Given the description of an element on the screen output the (x, y) to click on. 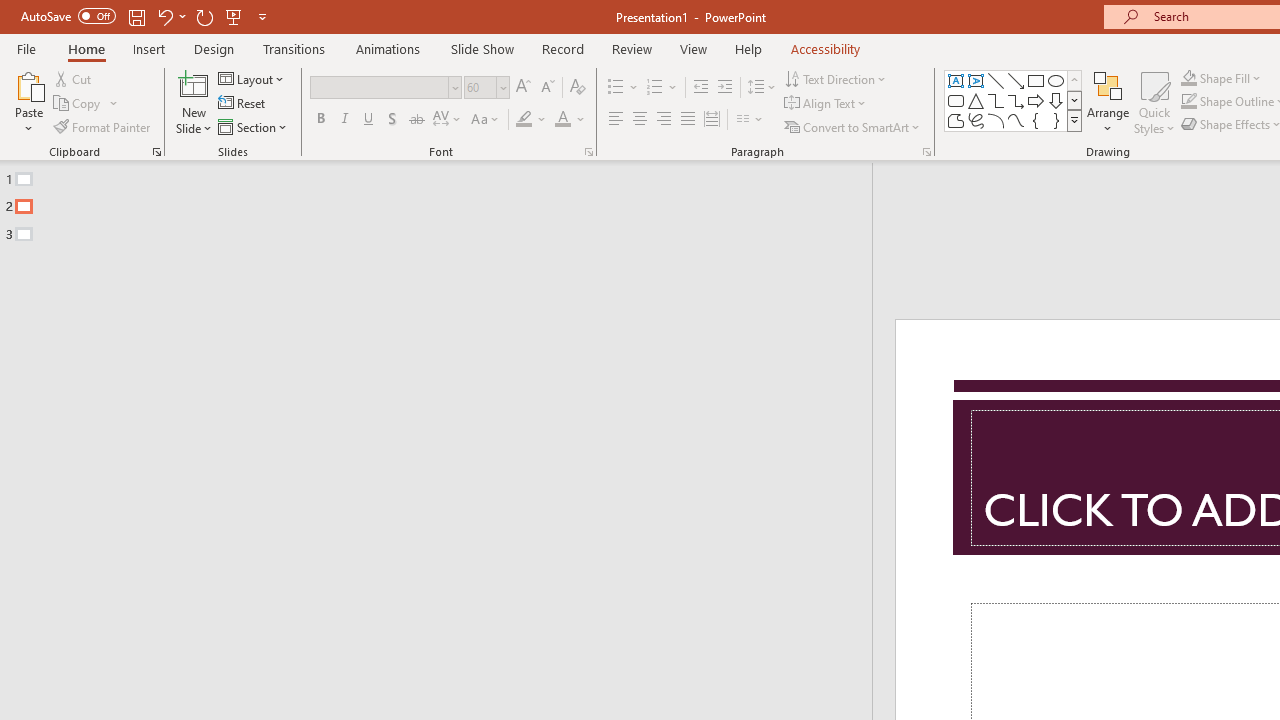
Shape Fill Orange, Accent 2 (1188, 78)
Outline (445, 202)
